Given the description of an element on the screen output the (x, y) to click on. 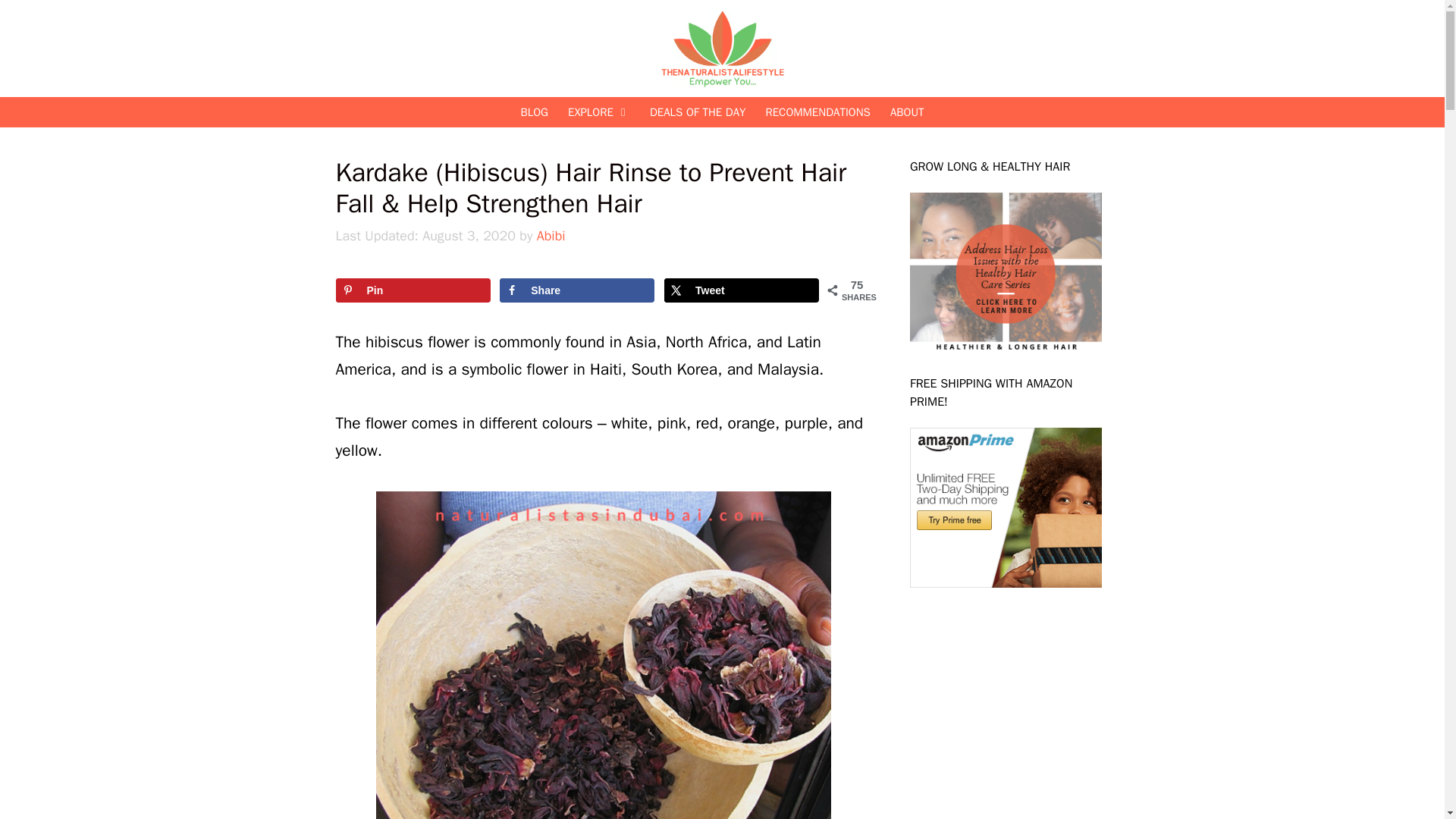
EXPLORE (598, 112)
Advertisement (1023, 705)
Abibi (551, 235)
DEALS OF THE DAY (697, 112)
View all posts by Abibi (551, 235)
Save to Pinterest (411, 290)
RECOMMENDATIONS (817, 112)
ABOUT (907, 112)
Share (576, 290)
Share on X (740, 290)
Tweet (740, 290)
Share on Facebook (576, 290)
Pin (411, 290)
BLOG (534, 112)
